Given the description of an element on the screen output the (x, y) to click on. 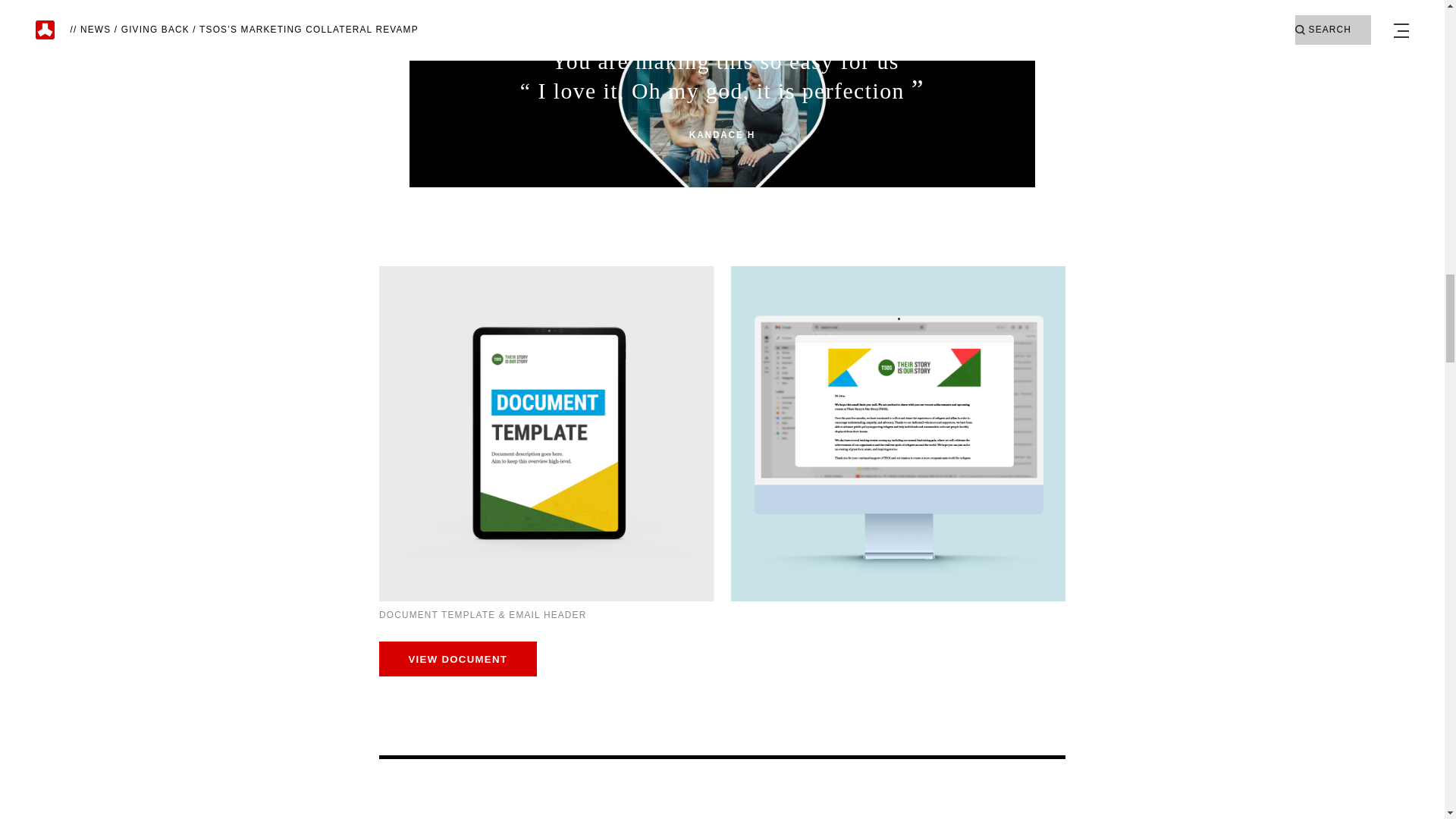
VIEW DOCUMENT (457, 658)
